Given the description of an element on the screen output the (x, y) to click on. 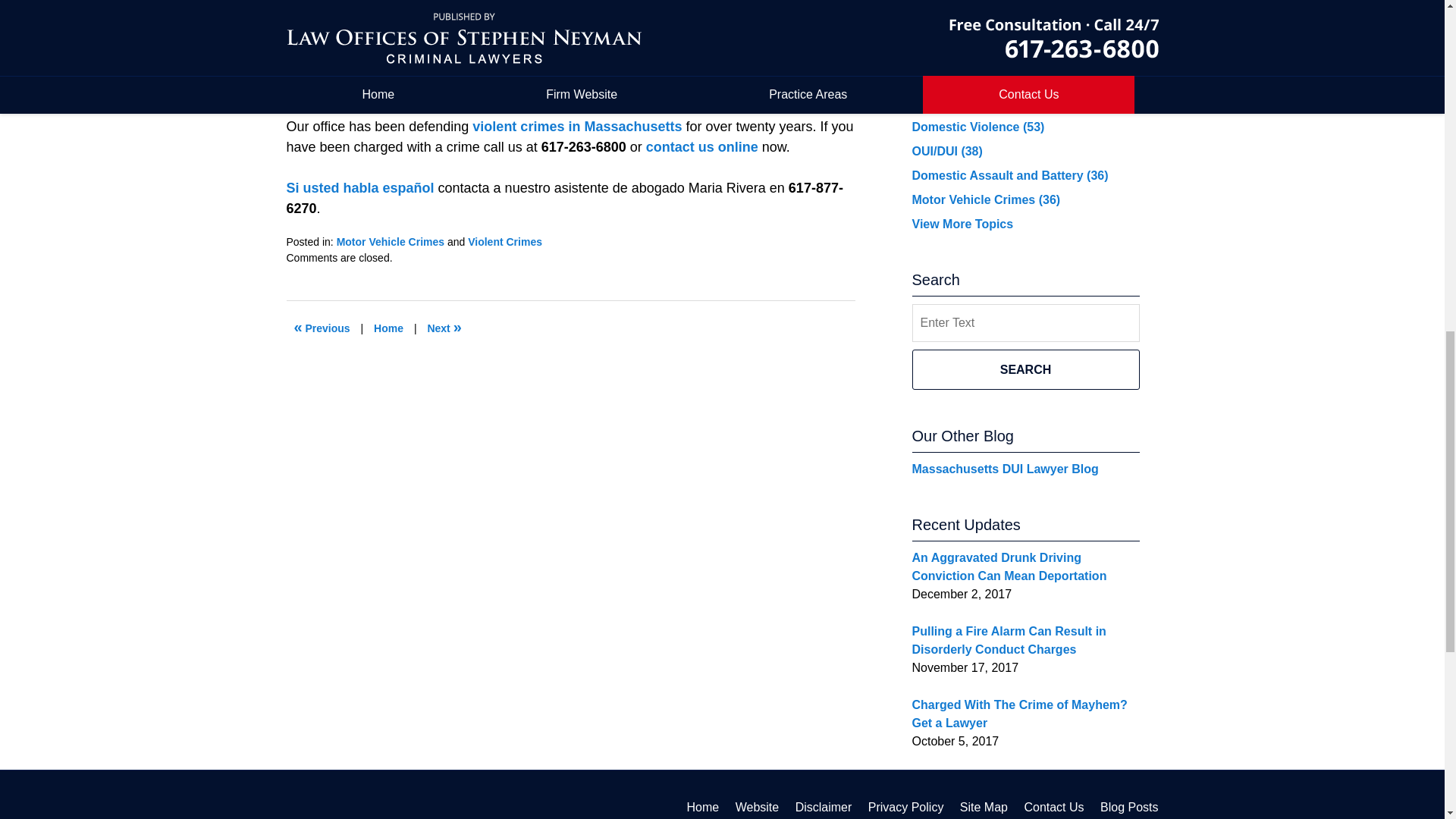
Home (388, 328)
View all posts in Motor Vehicle Crimes (390, 241)
Motor Vehicle Crimes (390, 241)
contact us online (703, 146)
Violent Crimes (504, 241)
View all posts in Violent Crimes (504, 241)
violent crimes in Massachusetts (578, 126)
